Given the description of an element on the screen output the (x, y) to click on. 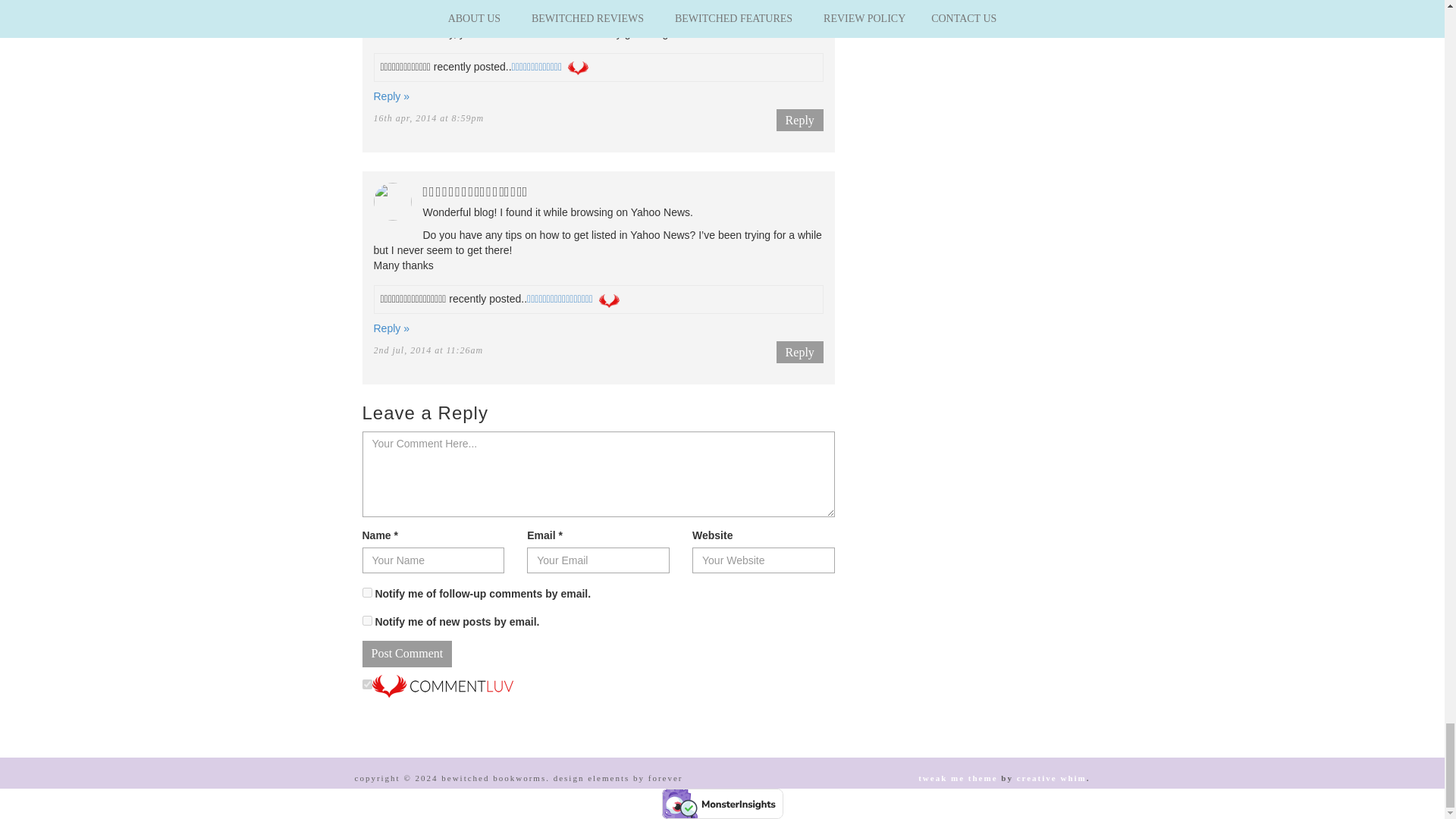
Post Comment (407, 653)
on (367, 684)
subscribe (367, 592)
subscribe (367, 620)
